Given the description of an element on the screen output the (x, y) to click on. 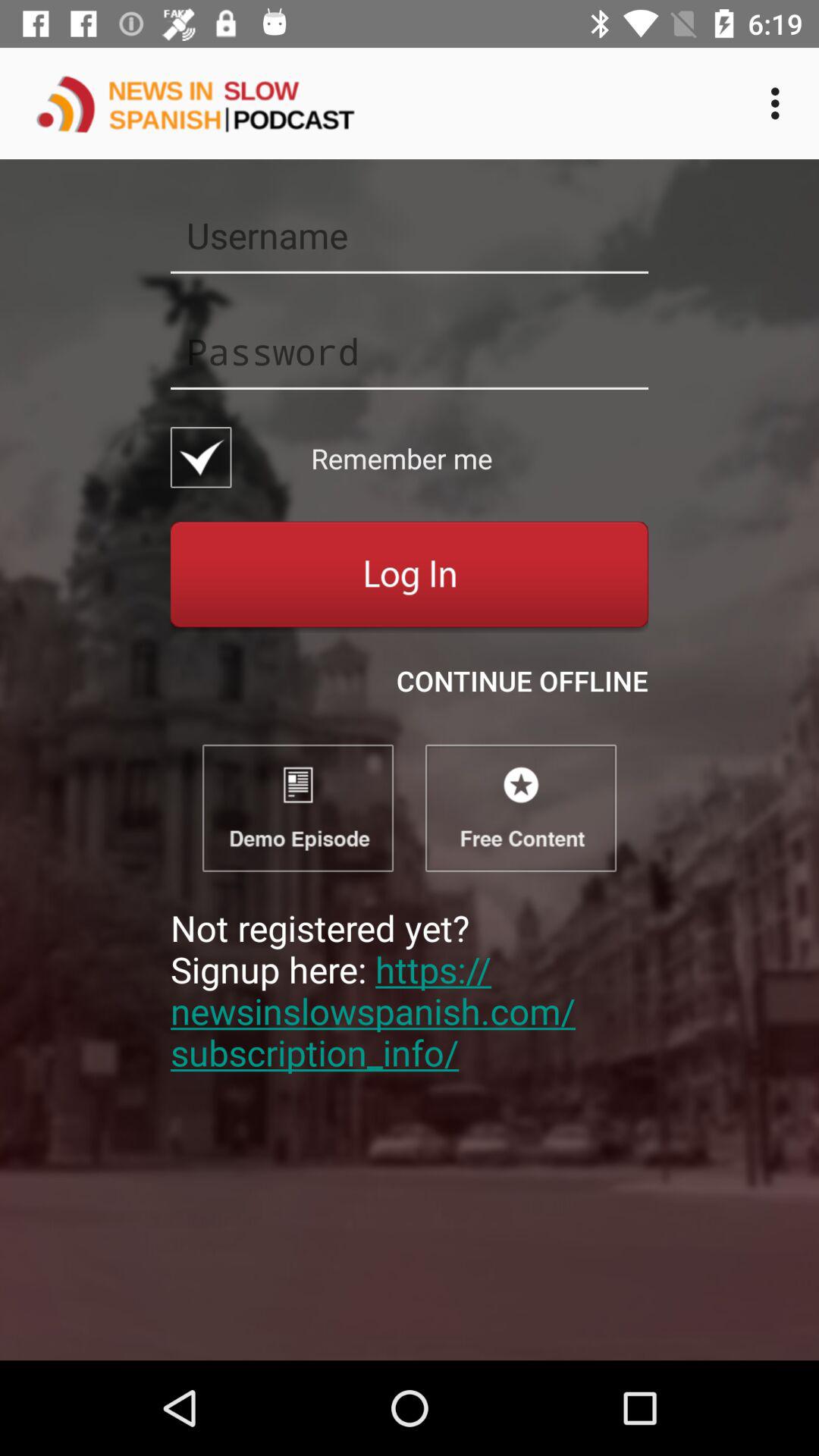
go to log in button (409, 577)
